Given the description of an element on the screen output the (x, y) to click on. 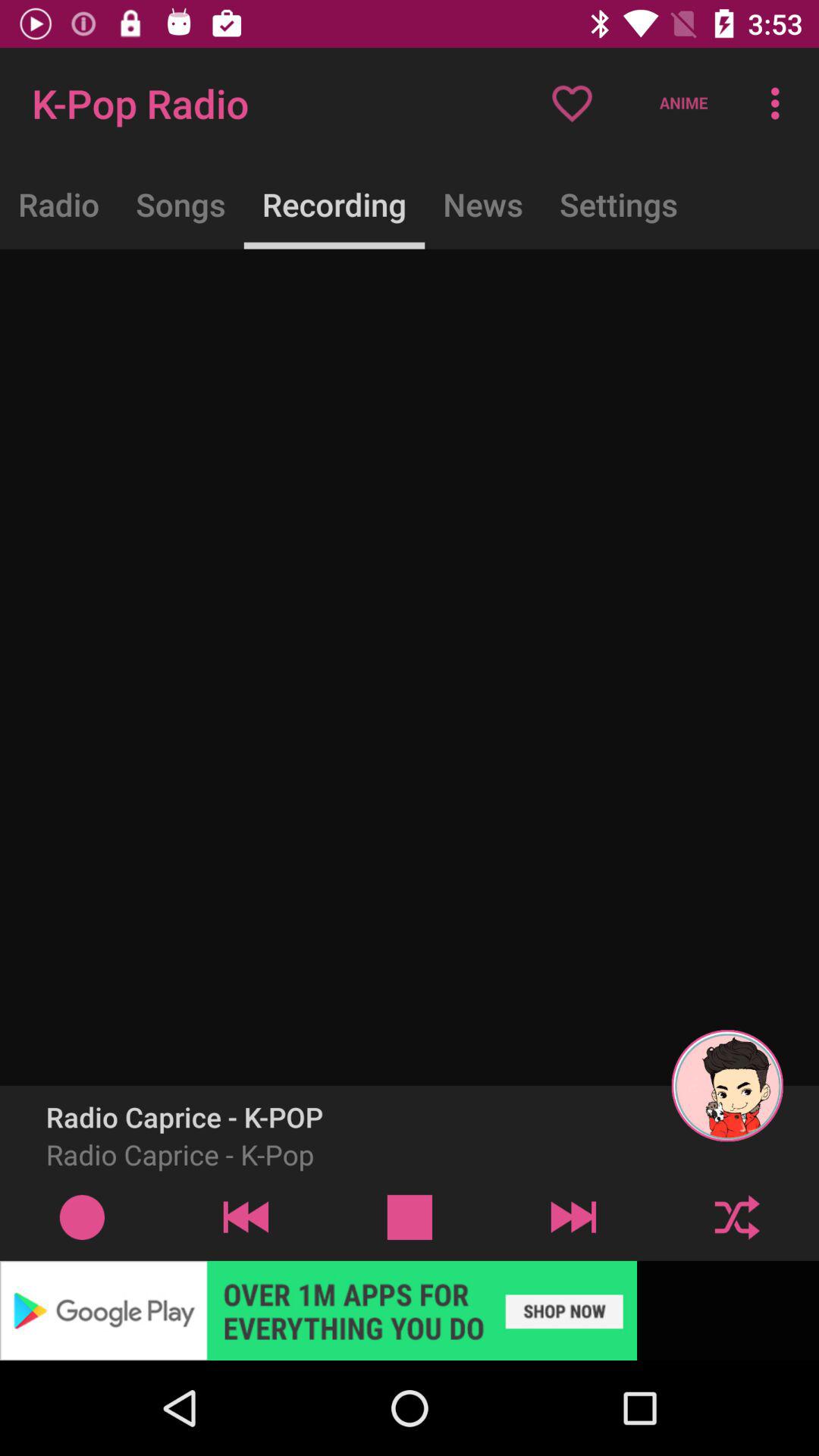
stop the songs (409, 1216)
